Given the description of an element on the screen output the (x, y) to click on. 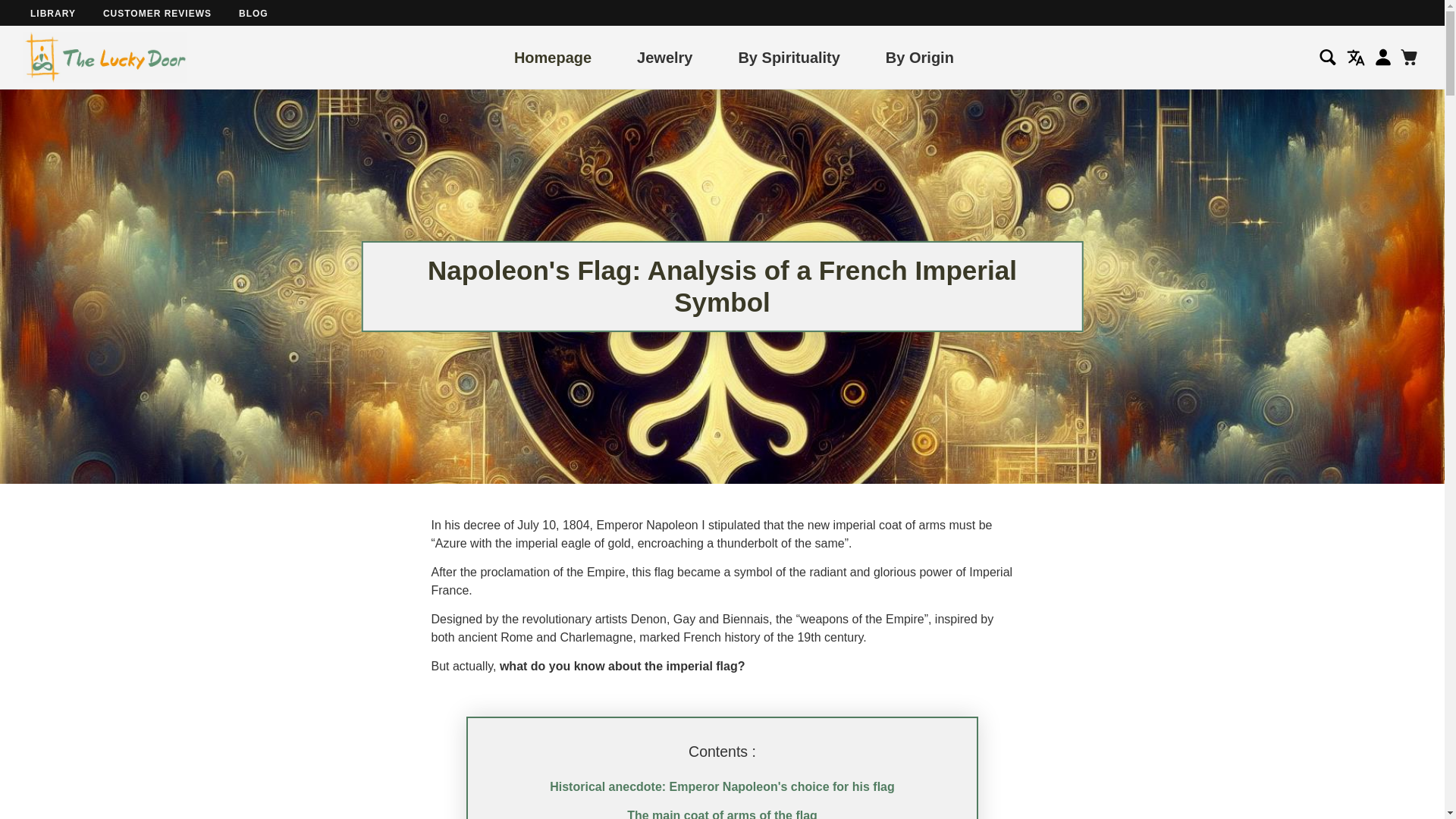
Homepage (552, 56)
Jewelry (664, 56)
By Spirituality (788, 56)
By Origin (918, 56)
LIBRARY (52, 13)
CUSTOMER REVIEWS (157, 13)
BLOG (252, 13)
Homepage (552, 56)
